Given the description of an element on the screen output the (x, y) to click on. 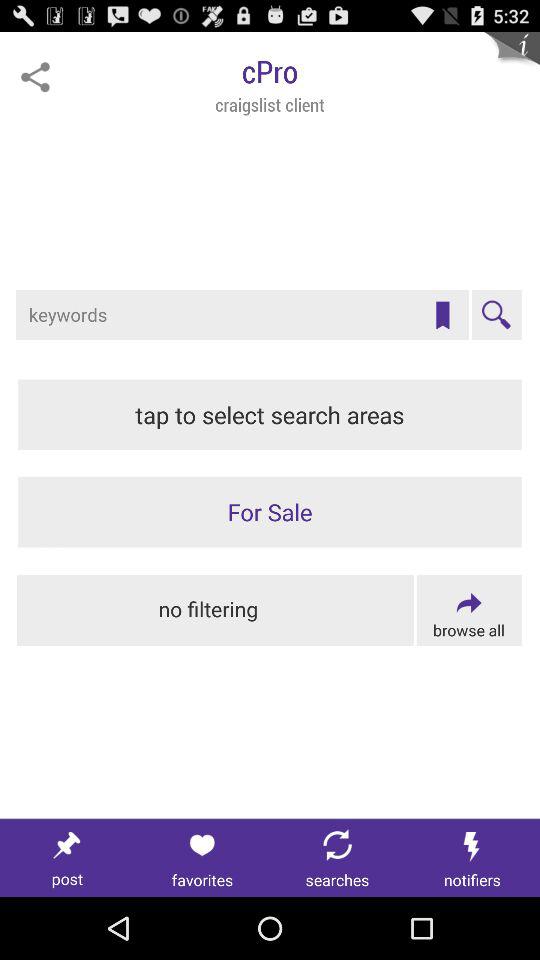
browse filters (468, 610)
